Given the description of an element on the screen output the (x, y) to click on. 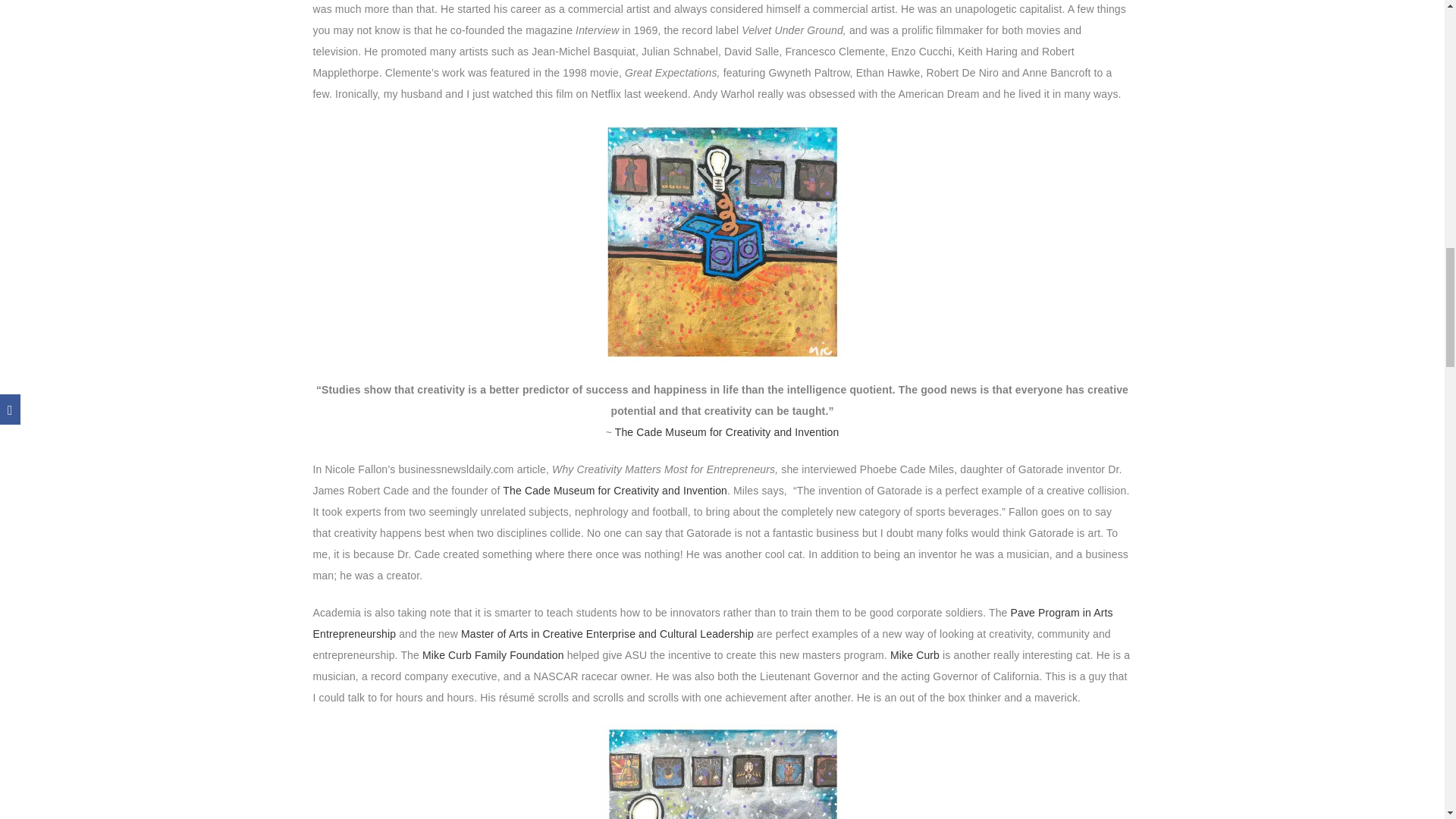
Mike Curb Family Foundation (493, 654)
The Cade Museum for Creativity and Invention (727, 431)
Mike Curb (914, 654)
Pave Program in Arts Entrepreneurship (712, 622)
The Cade Museum for Creativity and Invention (614, 490)
